Given the description of an element on the screen output the (x, y) to click on. 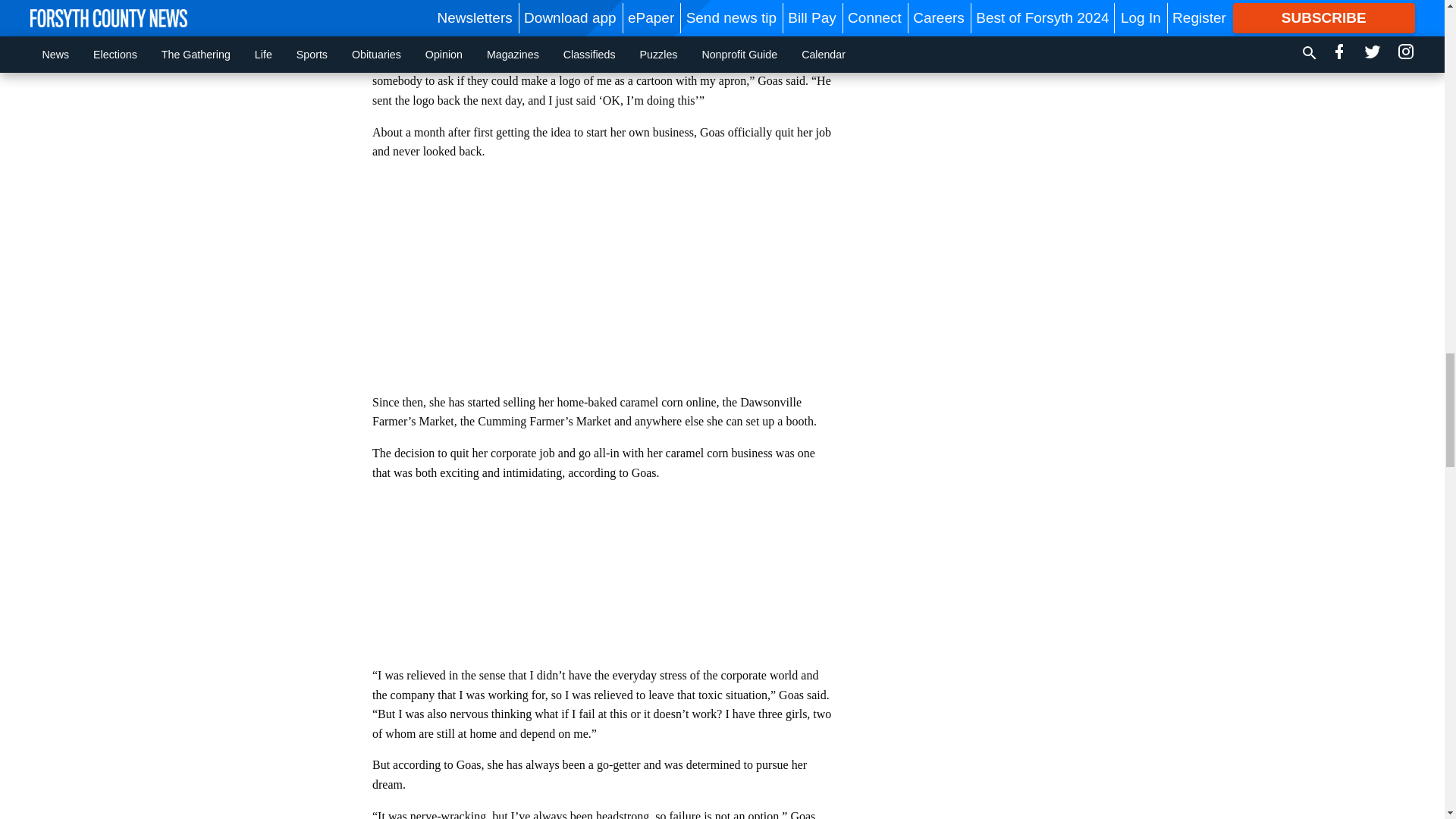
Signup Widget Embed (602, 579)
